Given the description of an element on the screen output the (x, y) to click on. 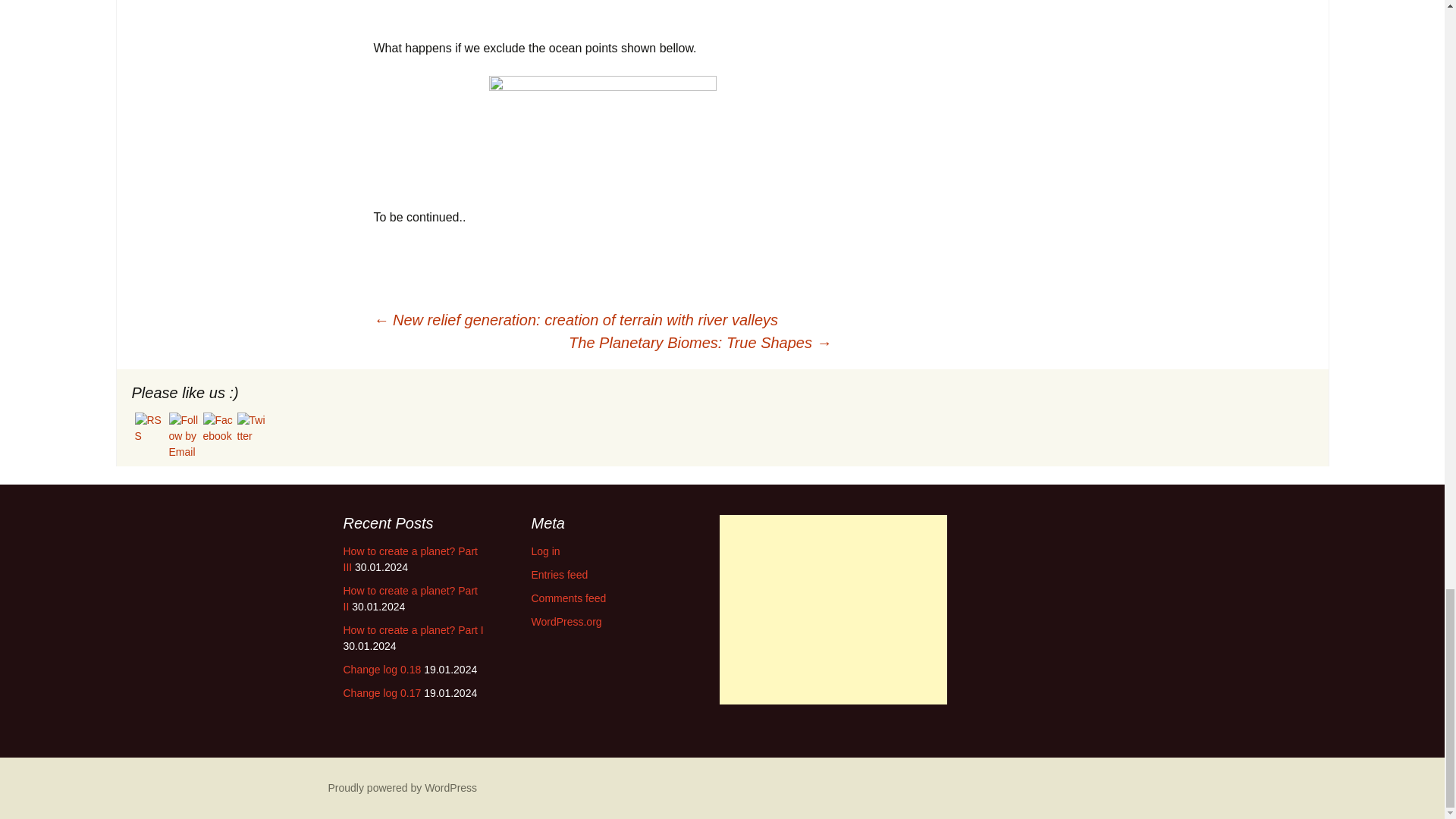
Log in (545, 551)
Follow by Email (183, 436)
Entries feed (559, 574)
How to create a planet? Part III (409, 559)
Change log 0.18 (381, 669)
Facebook (217, 428)
Comments feed (568, 598)
How to create a planet? Part II (409, 598)
WordPress.org (566, 621)
Twitter (250, 428)
Change log 0.17 (381, 693)
RSS (150, 428)
How to create a planet? Part I (412, 630)
